Given the description of an element on the screen output the (x, y) to click on. 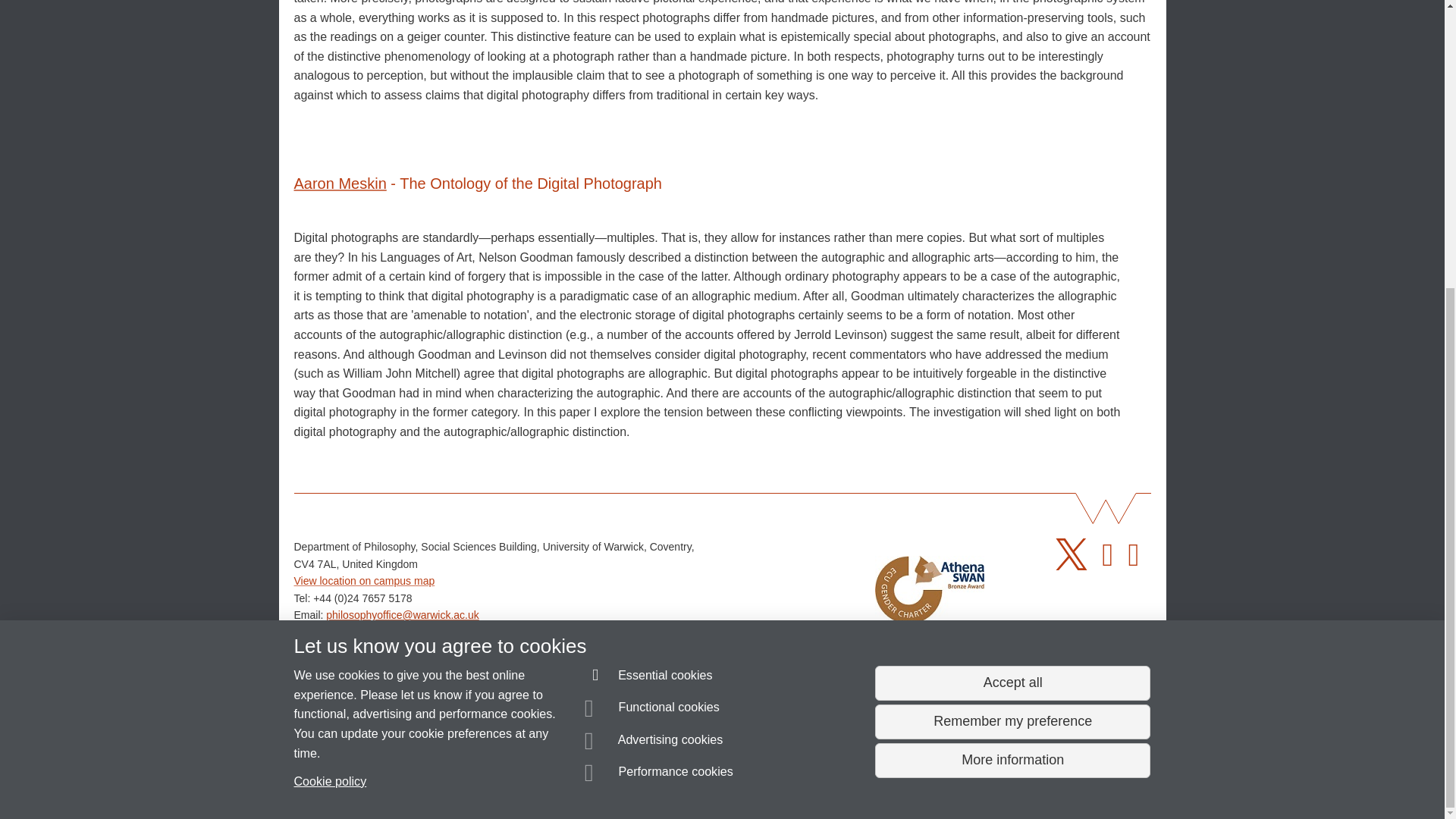
More information about SiteBuilder (365, 780)
Privacy notice (673, 780)
Essential cookies are always on (649, 241)
Information about cookies (467, 780)
Accept all functional, advertising and performance cookies (1012, 247)
Terms of use (708, 780)
